Given the description of an element on the screen output the (x, y) to click on. 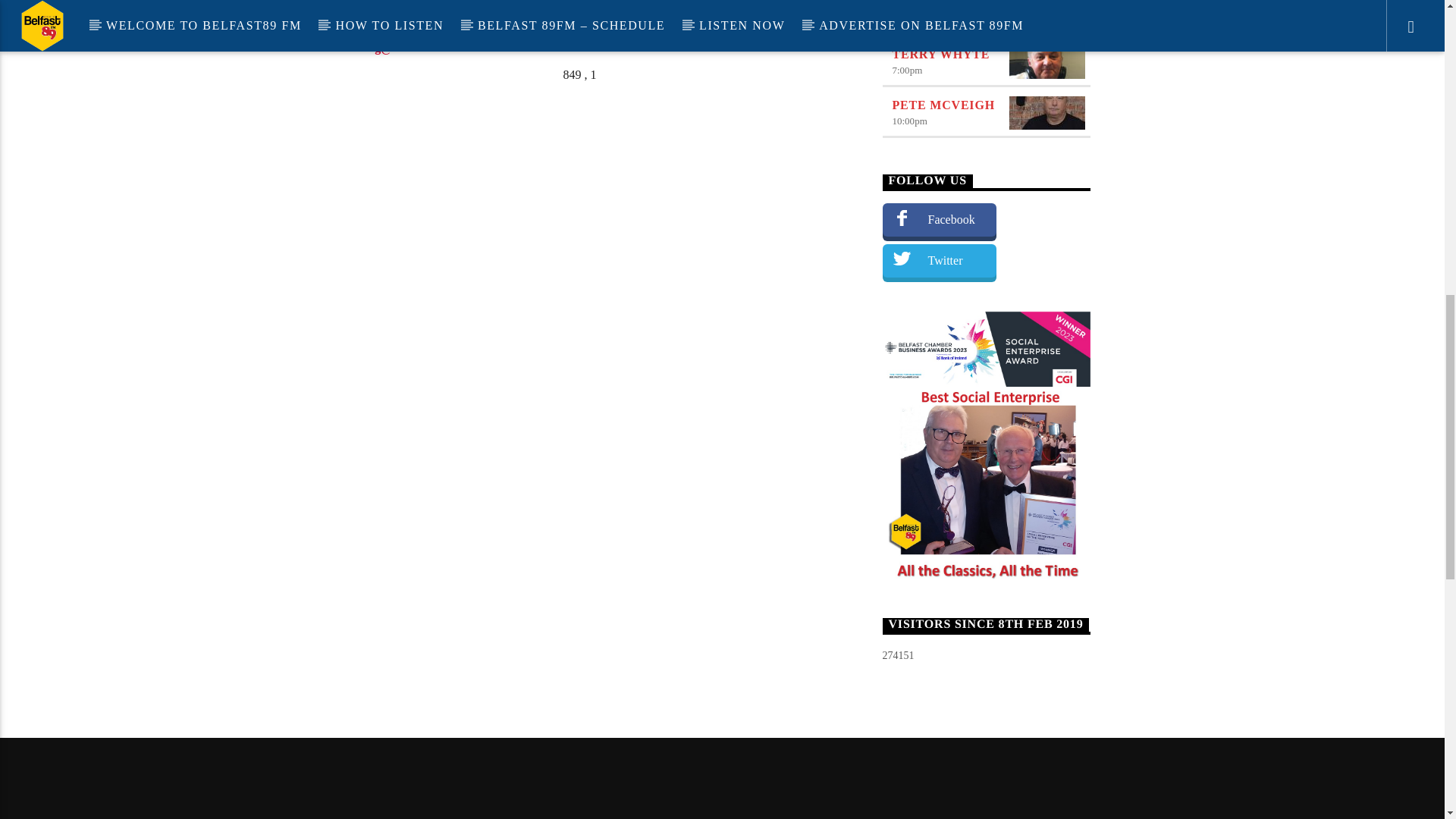
BELFAST 89FM (721, 814)
PETE MCVEIGH (942, 104)
TERRY WHYTE (940, 53)
Twitter (938, 260)
Facebook (938, 219)
NEIL MCLAREN (942, 4)
